Given the description of an element on the screen output the (x, y) to click on. 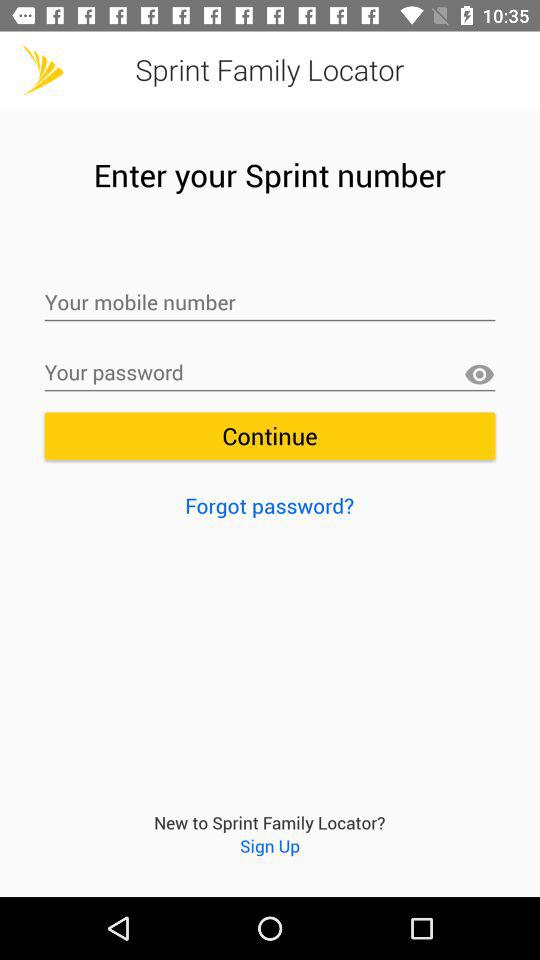
open the sign up (270, 845)
